Given the description of an element on the screen output the (x, y) to click on. 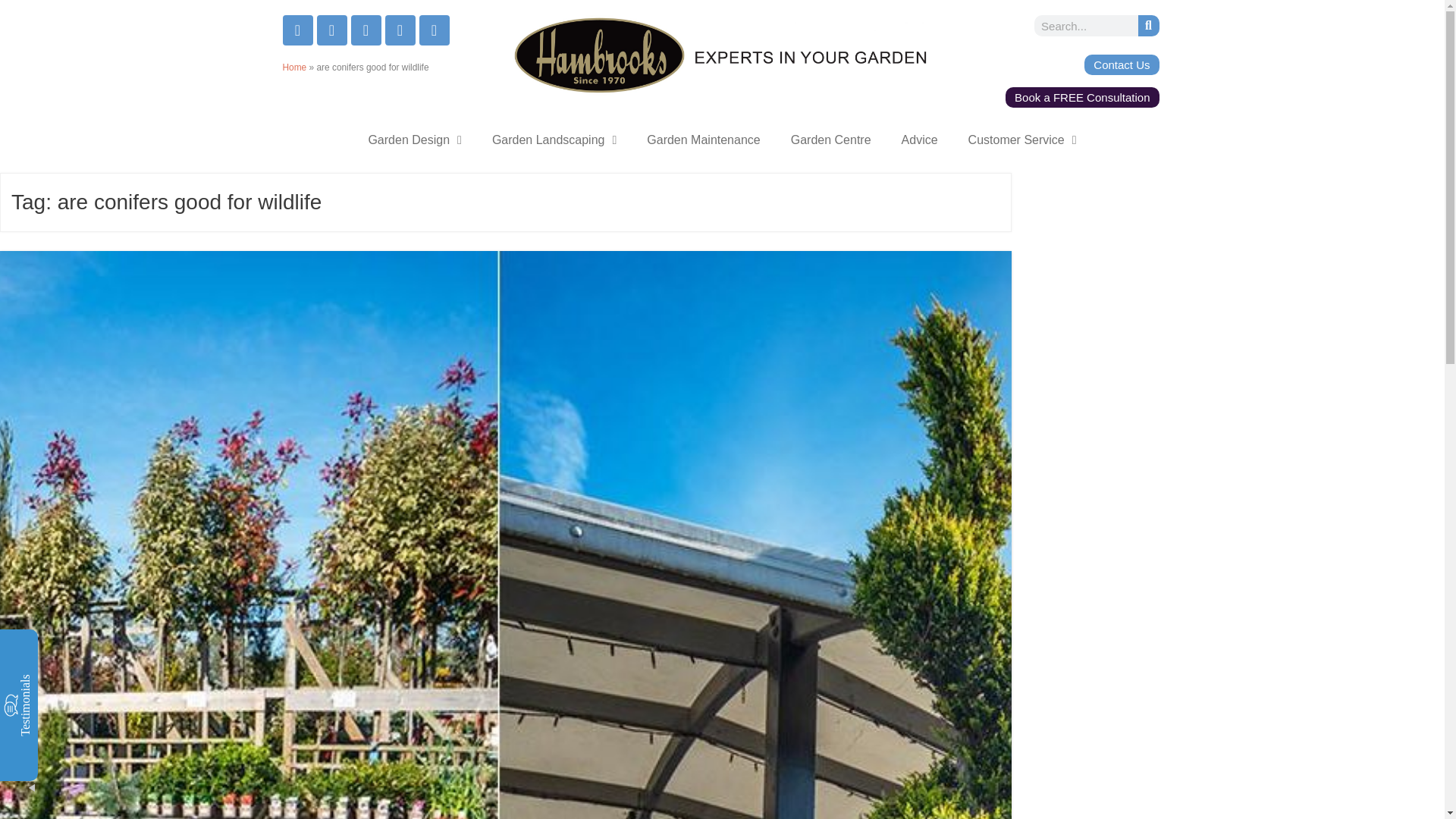
Home (293, 67)
Book a FREE Consultation (1082, 96)
Advice (919, 140)
Garden Centre (831, 140)
Customer Service (1022, 140)
Garden Design (414, 140)
Contact Us (1121, 64)
Garden Maintenance (702, 140)
Garden Landscaping (554, 140)
